Given the description of an element on the screen output the (x, y) to click on. 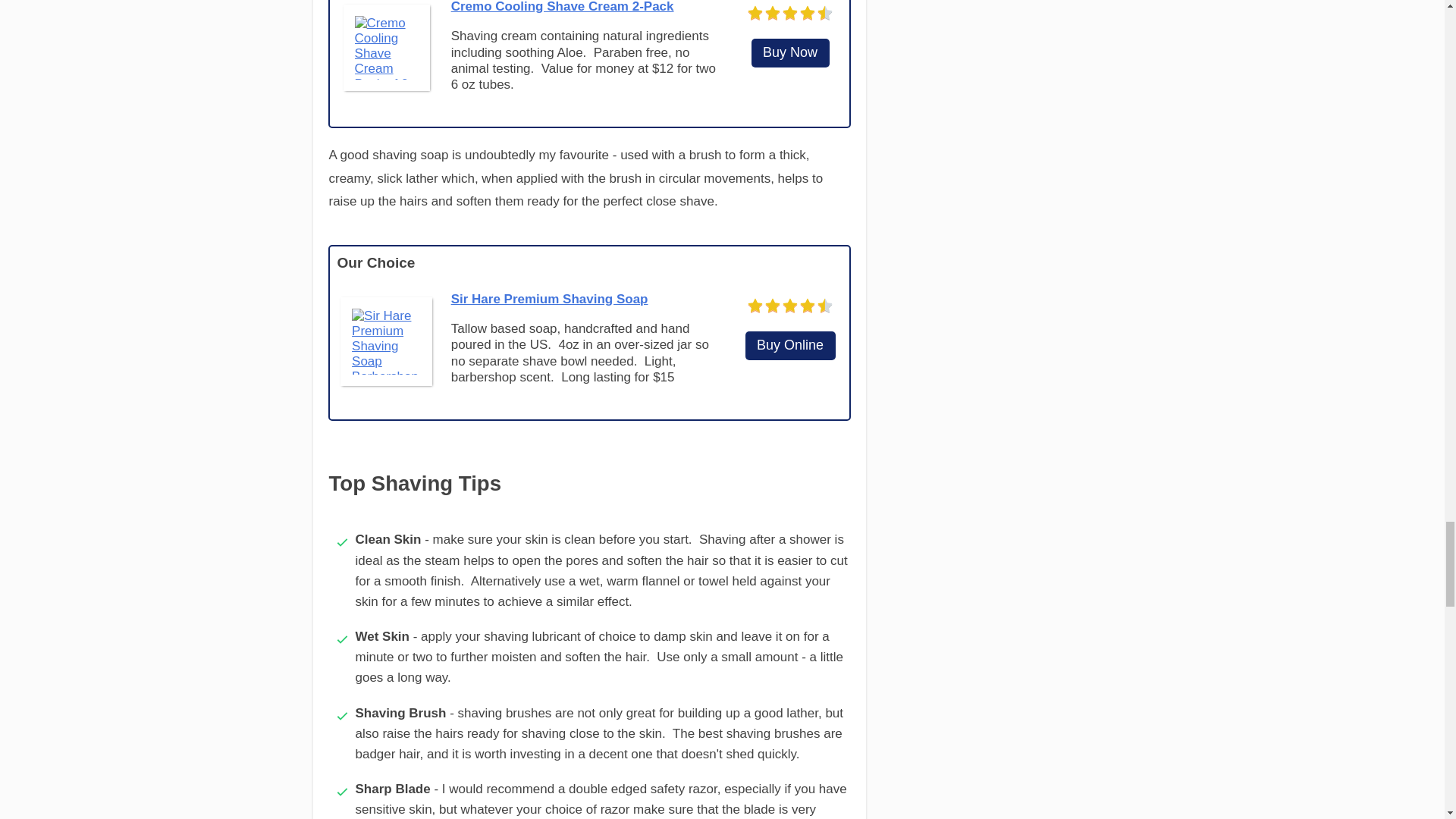
Sir Hare Premium Shaving Soap for Men by Sir Hare (386, 340)
Cremo Cooling Shave Cream, 6oz, 2-pack (387, 47)
Cremo Cooling Shave Cream, 6oz, 2-pack (562, 6)
Cremo Cooling Shave Cream, 6oz, 2-pack (790, 52)
